Given the description of an element on the screen output the (x, y) to click on. 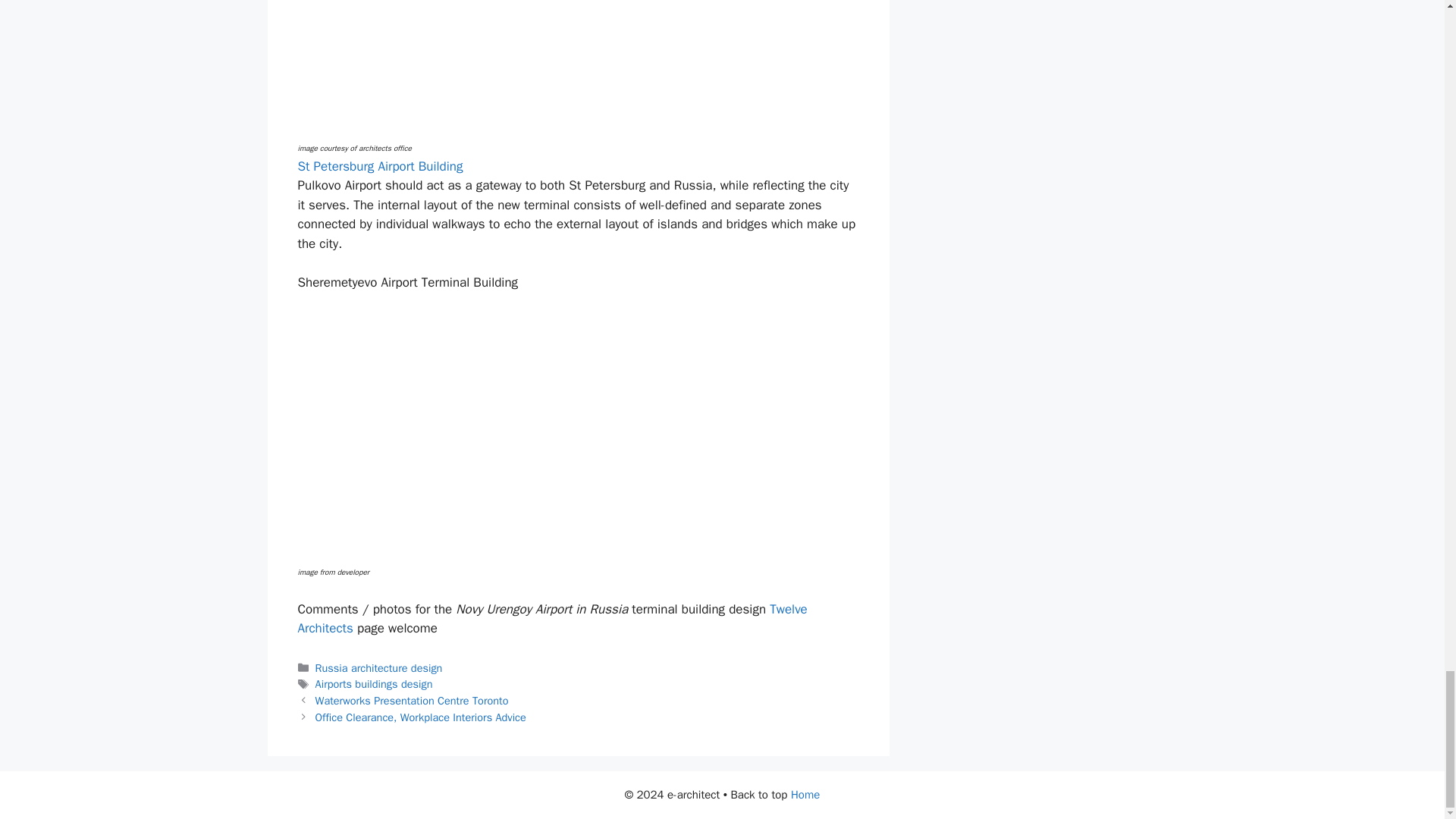
St Petersburg Airport Building (380, 166)
